Given the description of an element on the screen output the (x, y) to click on. 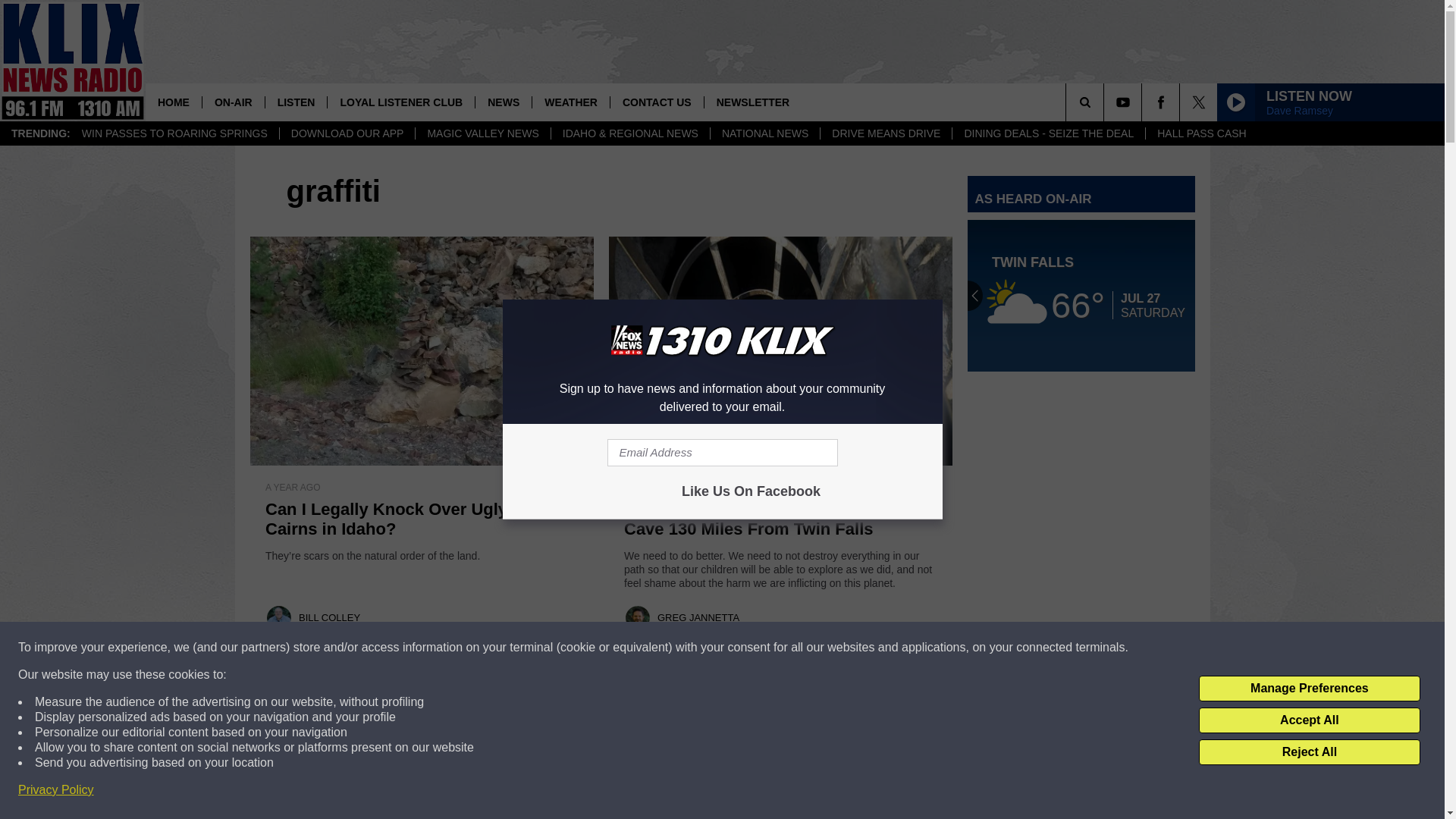
LISTEN (295, 102)
MAGIC VALLEY NEWS (482, 133)
NATIONAL NEWS (764, 133)
Privacy Policy (55, 789)
DINING DEALS - SEIZE THE DEAL (1048, 133)
Accept All (1309, 720)
HOME (173, 102)
Reject All (1309, 751)
Email Address (722, 452)
DRIVE MEANS DRIVE (885, 133)
DOWNLOAD OUR APP (346, 133)
ON-AIR (233, 102)
SEARCH (1106, 102)
Twin Falls Weather (1081, 295)
WIN PASSES TO ROARING SPRINGS (174, 133)
